Given the description of an element on the screen output the (x, y) to click on. 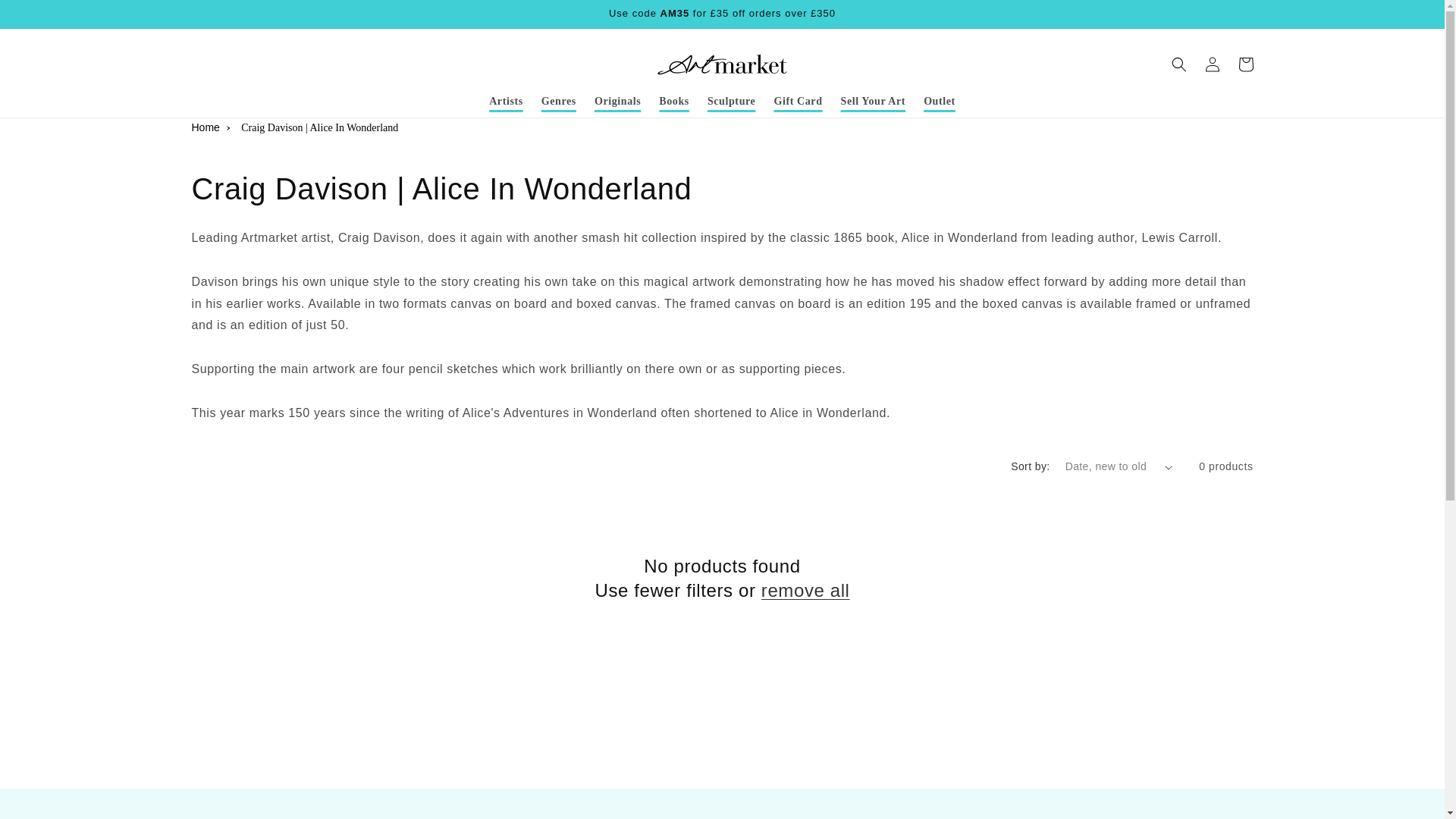
Artists (506, 101)
Gift Card (797, 101)
Outlet (938, 101)
Skip to content (45, 17)
Sell Your Art (873, 101)
Books (673, 101)
Sculpture (731, 101)
Log in (1211, 64)
Genres (558, 101)
Cart (1245, 64)
Home (204, 127)
Originals (617, 101)
